Given the description of an element on the screen output the (x, y) to click on. 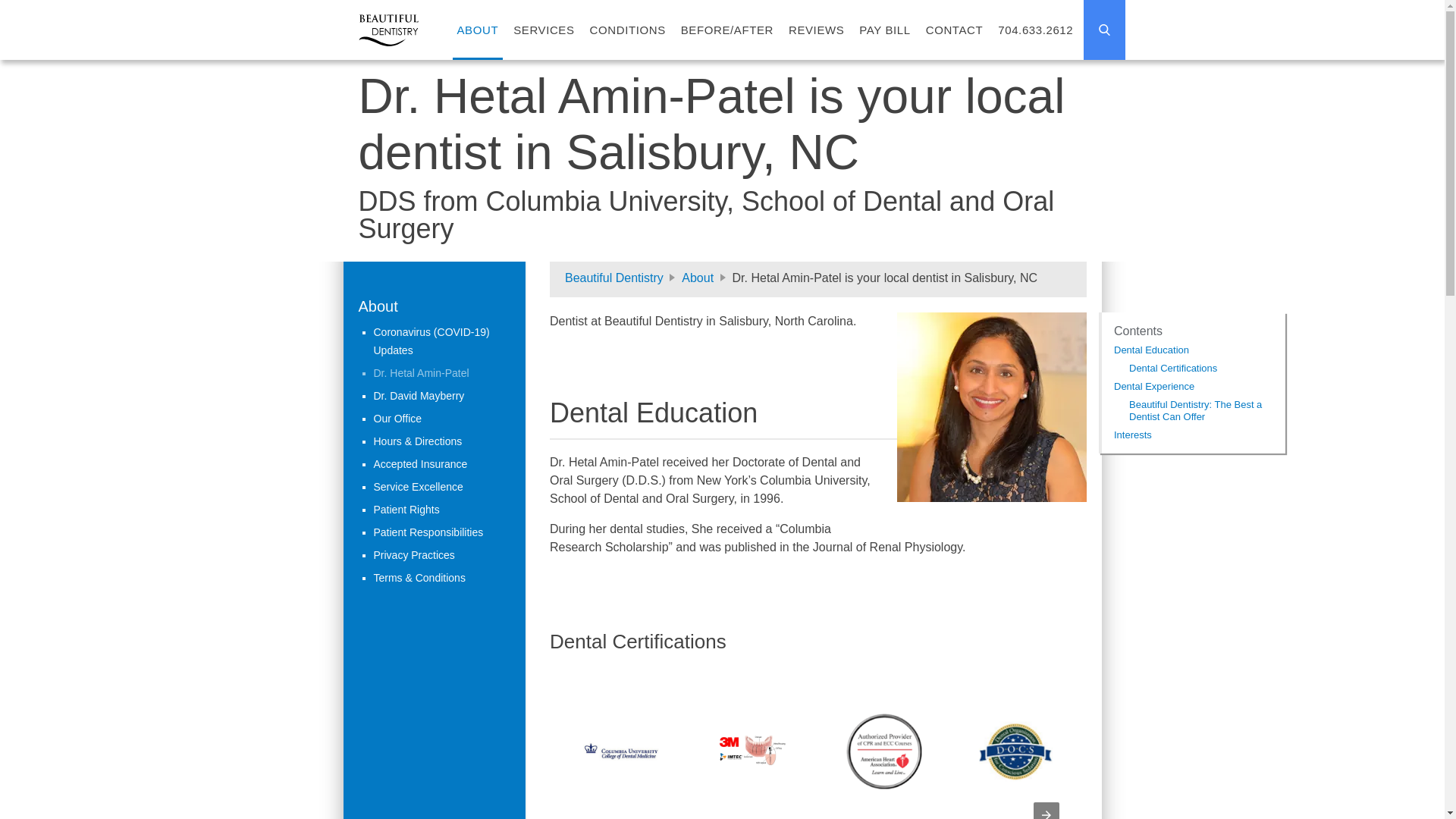
Dental Certifications (1171, 367)
Beautiful Dentistry (613, 277)
About (377, 306)
Beautiful Dentistry: The Best a Dentist Can Offer (1194, 410)
Service Excellence (417, 486)
PAY BILL (884, 29)
Patient Rights (405, 509)
Dental Education (1150, 349)
SERVICES (543, 29)
Dr. David Mayberry (418, 395)
About (697, 277)
Dental Experience (1153, 386)
Accepted Insurance (419, 463)
CONDITIONS (627, 29)
